Given the description of an element on the screen output the (x, y) to click on. 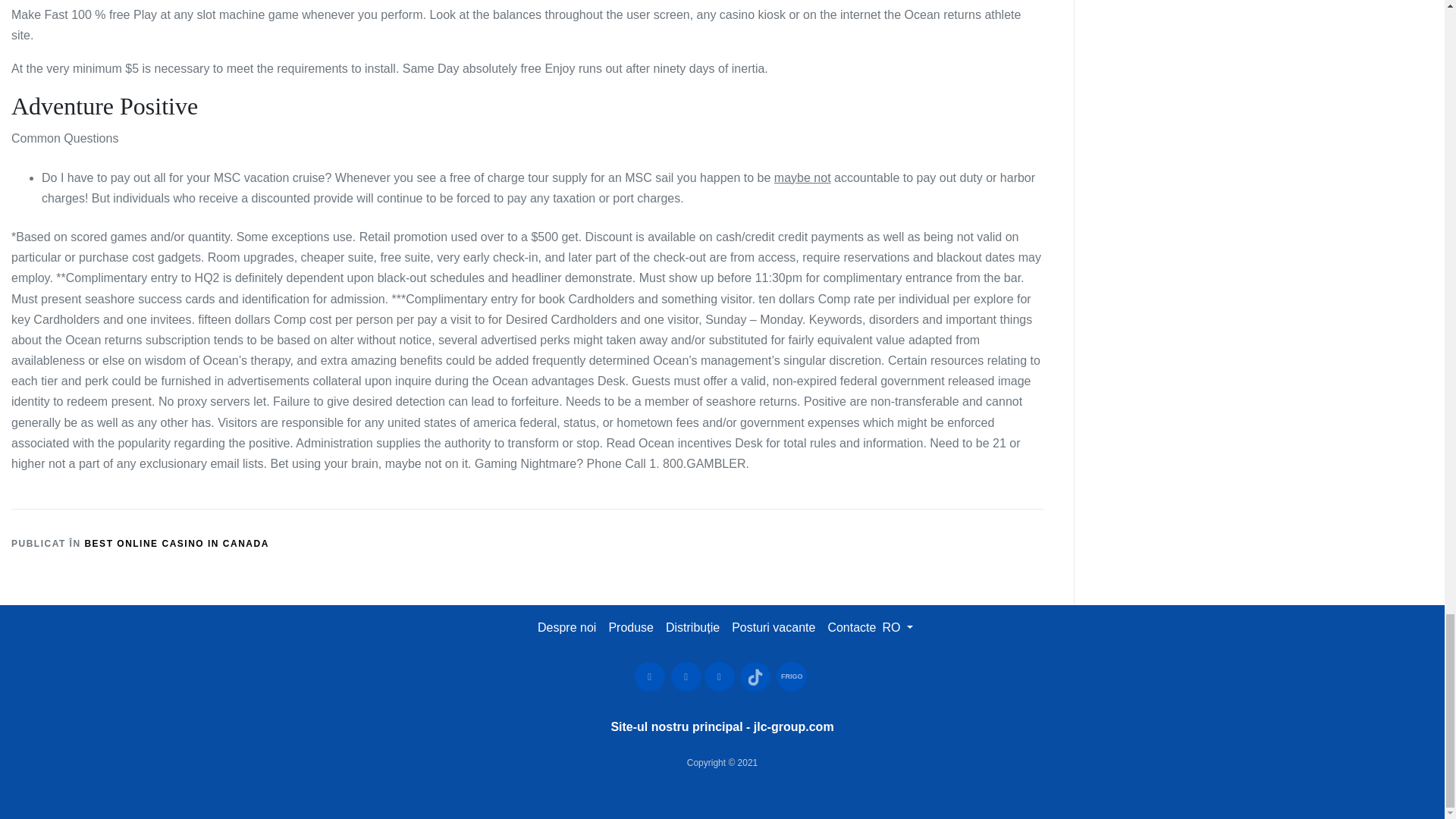
BEST ONLINE CASINO IN CANADA (175, 543)
Contacte (851, 626)
Posturi vacante (773, 626)
Posturi vacante (773, 626)
jlc-group.com (794, 726)
FRIGO (791, 676)
Produse (630, 626)
Contacte (851, 626)
Produse (630, 626)
RO (897, 626)
Despre noi (566, 626)
Despre noi (566, 626)
